Given the description of an element on the screen output the (x, y) to click on. 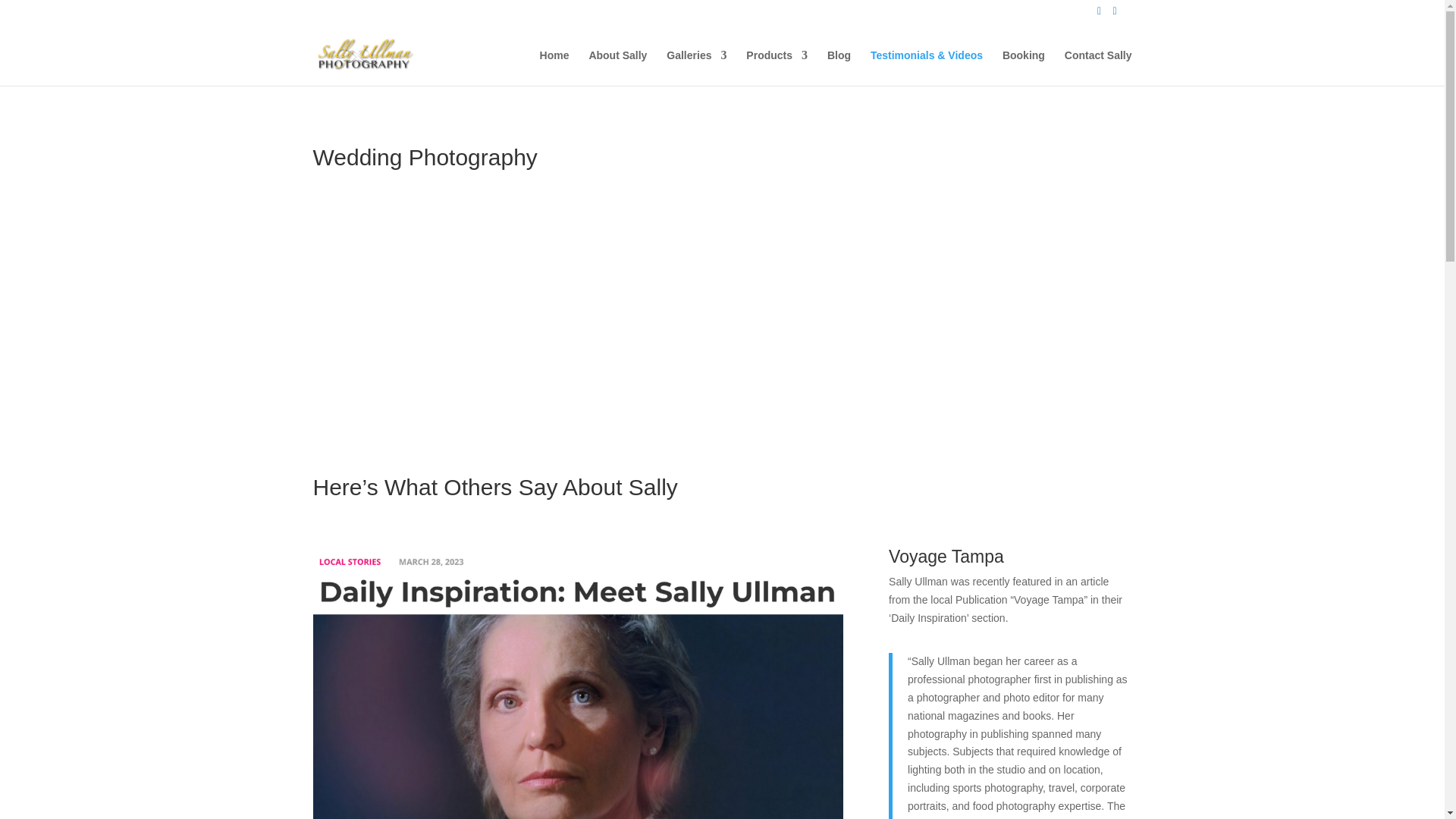
Contact Sally (1098, 67)
Galleries (696, 67)
Booking (1024, 67)
About Sally (617, 67)
Wedding Photography by Sally Ullman Photography (505, 325)
Products (776, 67)
